Given the description of an element on the screen output the (x, y) to click on. 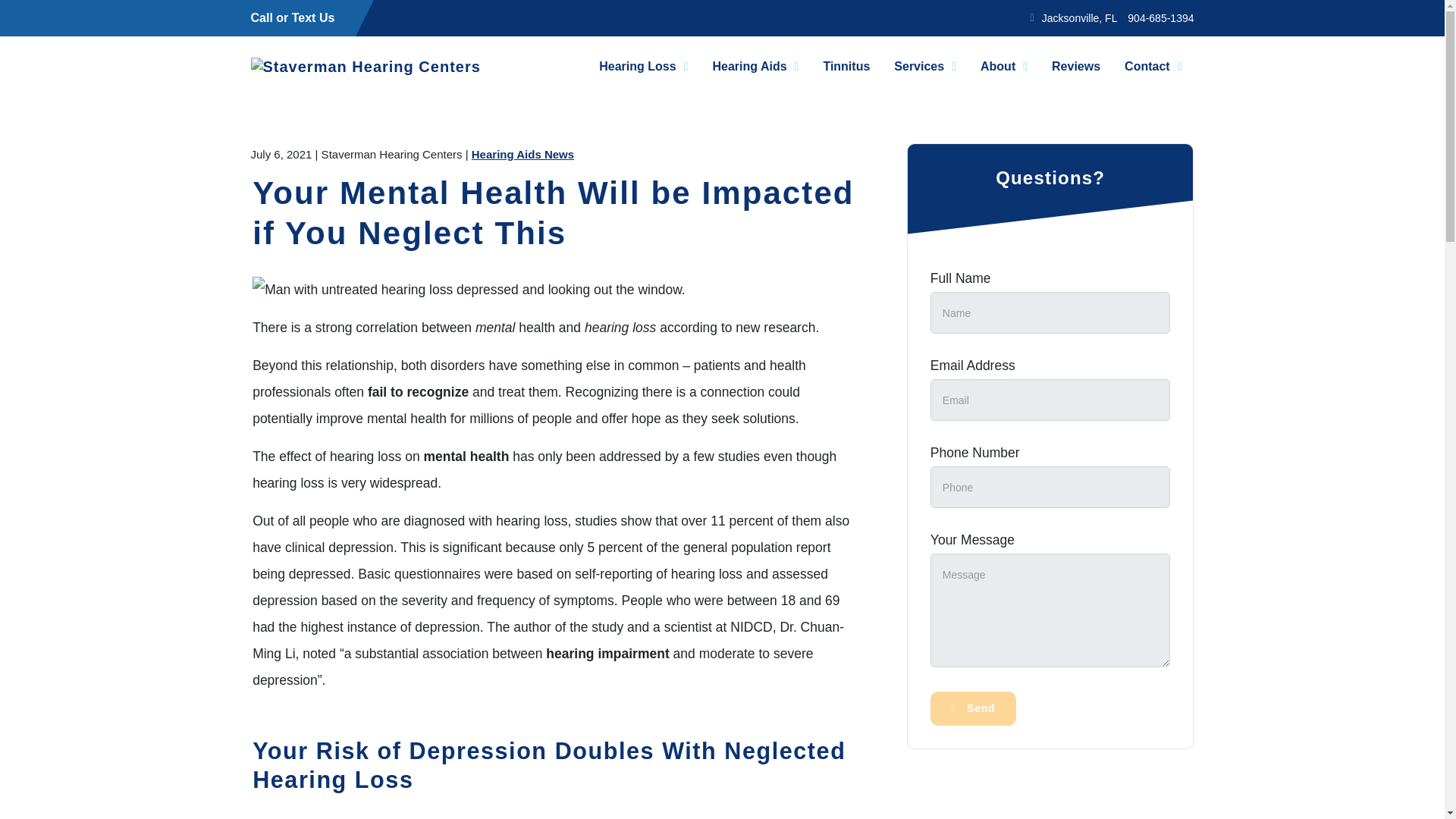
Services (925, 66)
Reviews (1075, 66)
Jacksonville, FL (1080, 18)
Contact (1152, 66)
Hearing Loss (643, 66)
Tinnitus (846, 66)
904-685-1394 (1159, 18)
About (1003, 66)
Call or Text Us (292, 17)
Hearing Aids (755, 66)
